Given the description of an element on the screen output the (x, y) to click on. 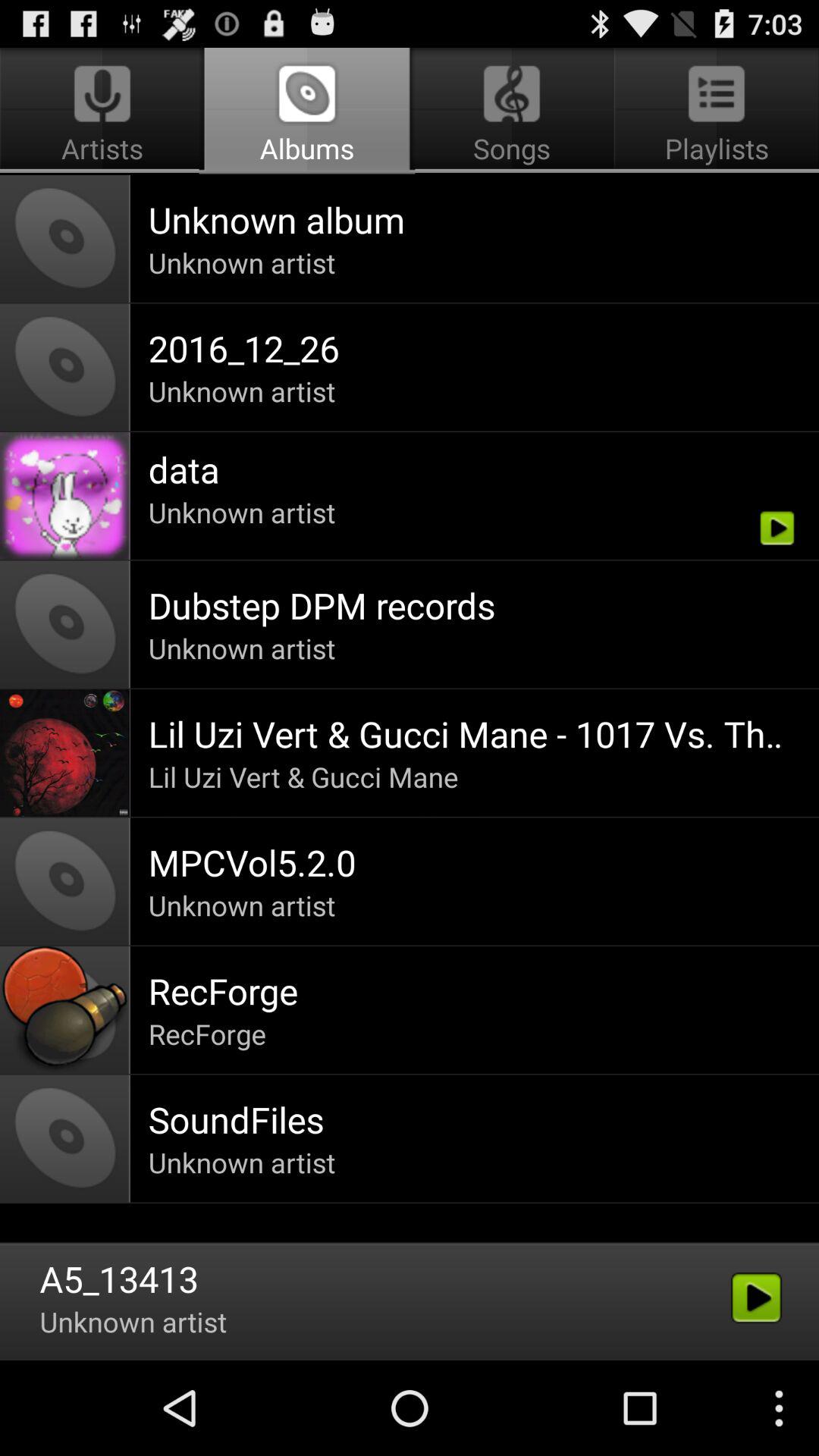
choose the item to the right of albums icon (713, 111)
